Given the description of an element on the screen output the (x, y) to click on. 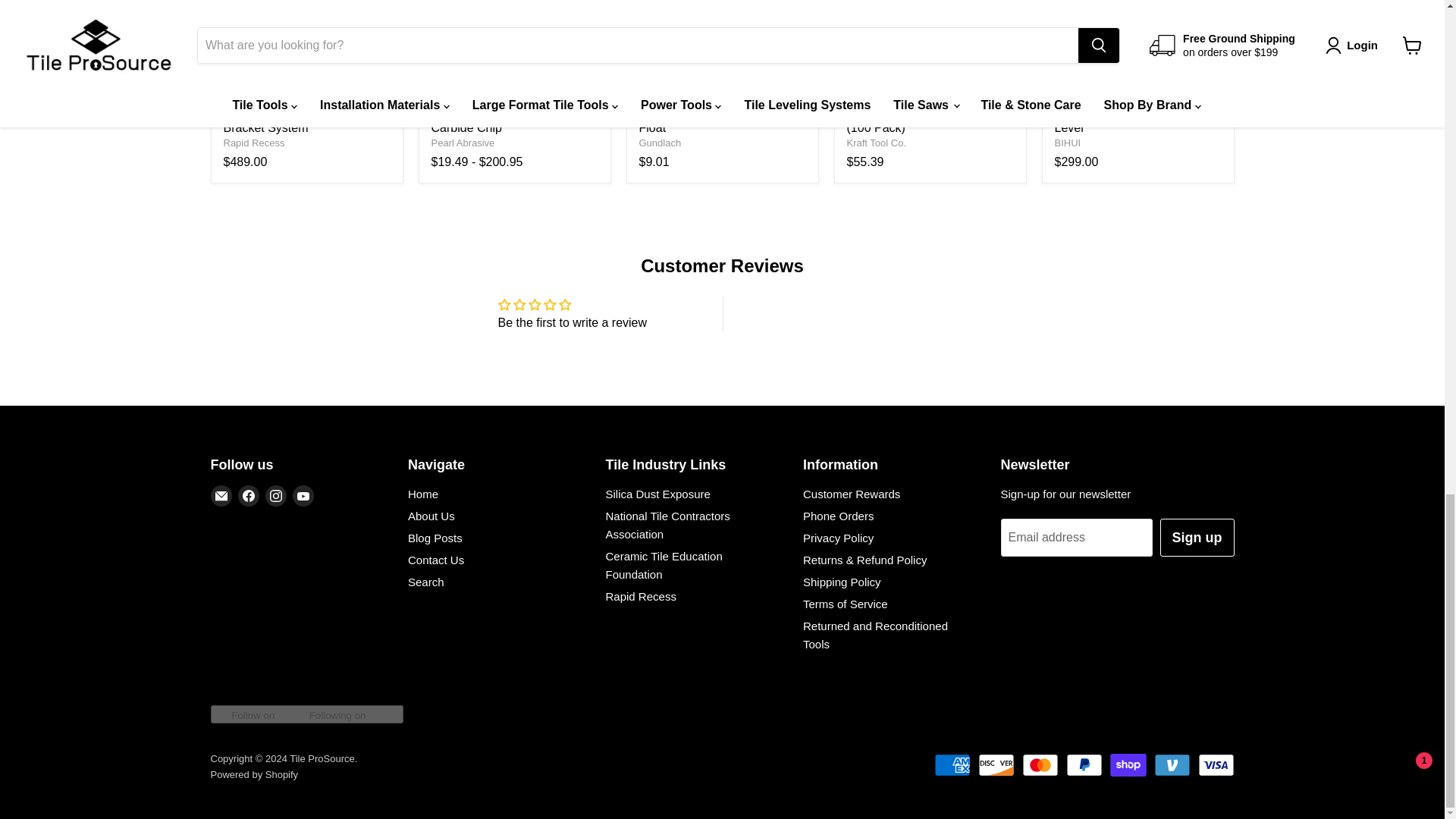
Pearl Abrasive (462, 142)
Kraft Tool Co. (875, 142)
Gundlach (660, 142)
BIHUI (1067, 142)
Rapid Recess (252, 142)
